Given the description of an element on the screen output the (x, y) to click on. 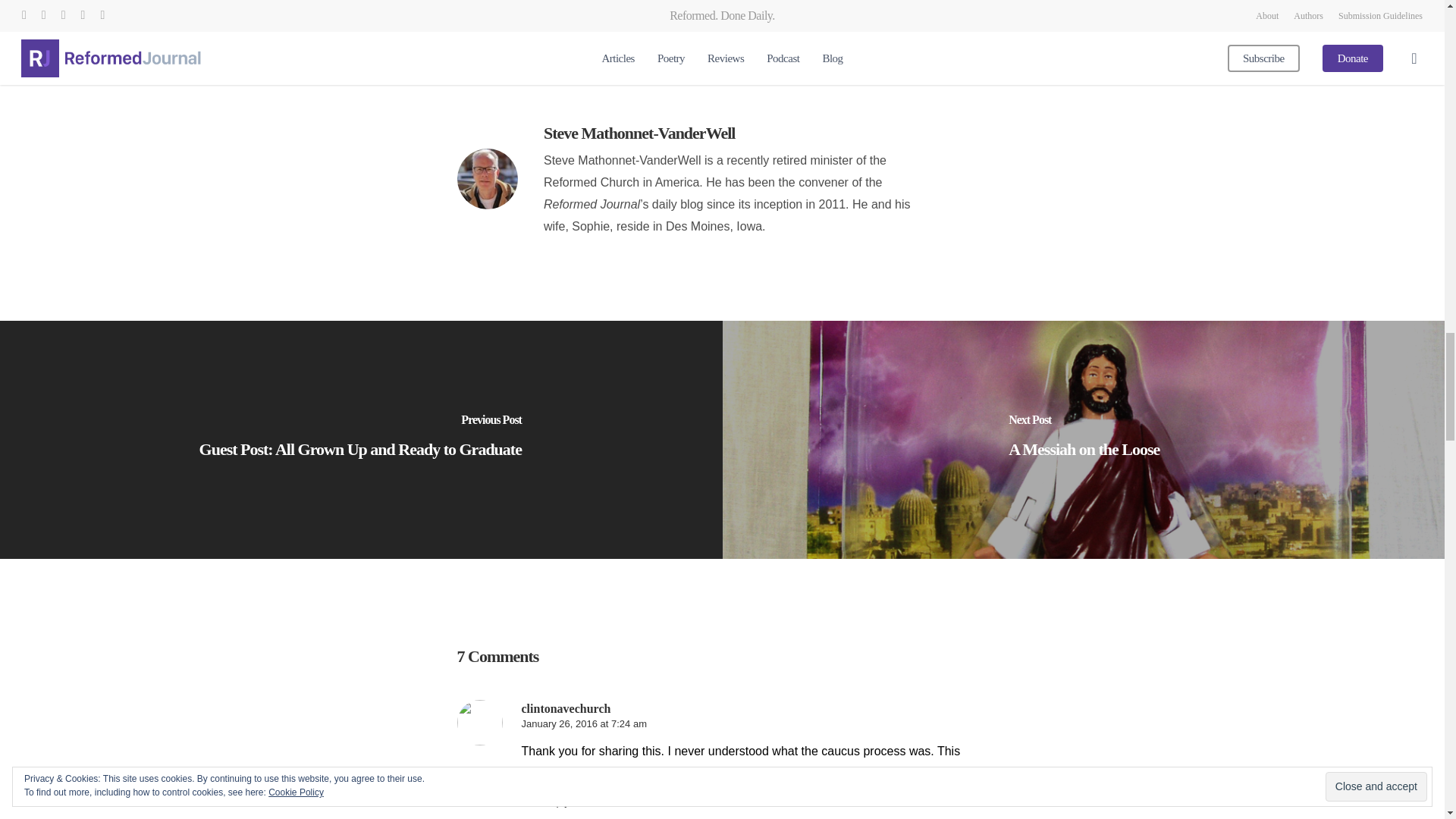
Steve Mathonnet-VanderWell (639, 132)
